Given the description of an element on the screen output the (x, y) to click on. 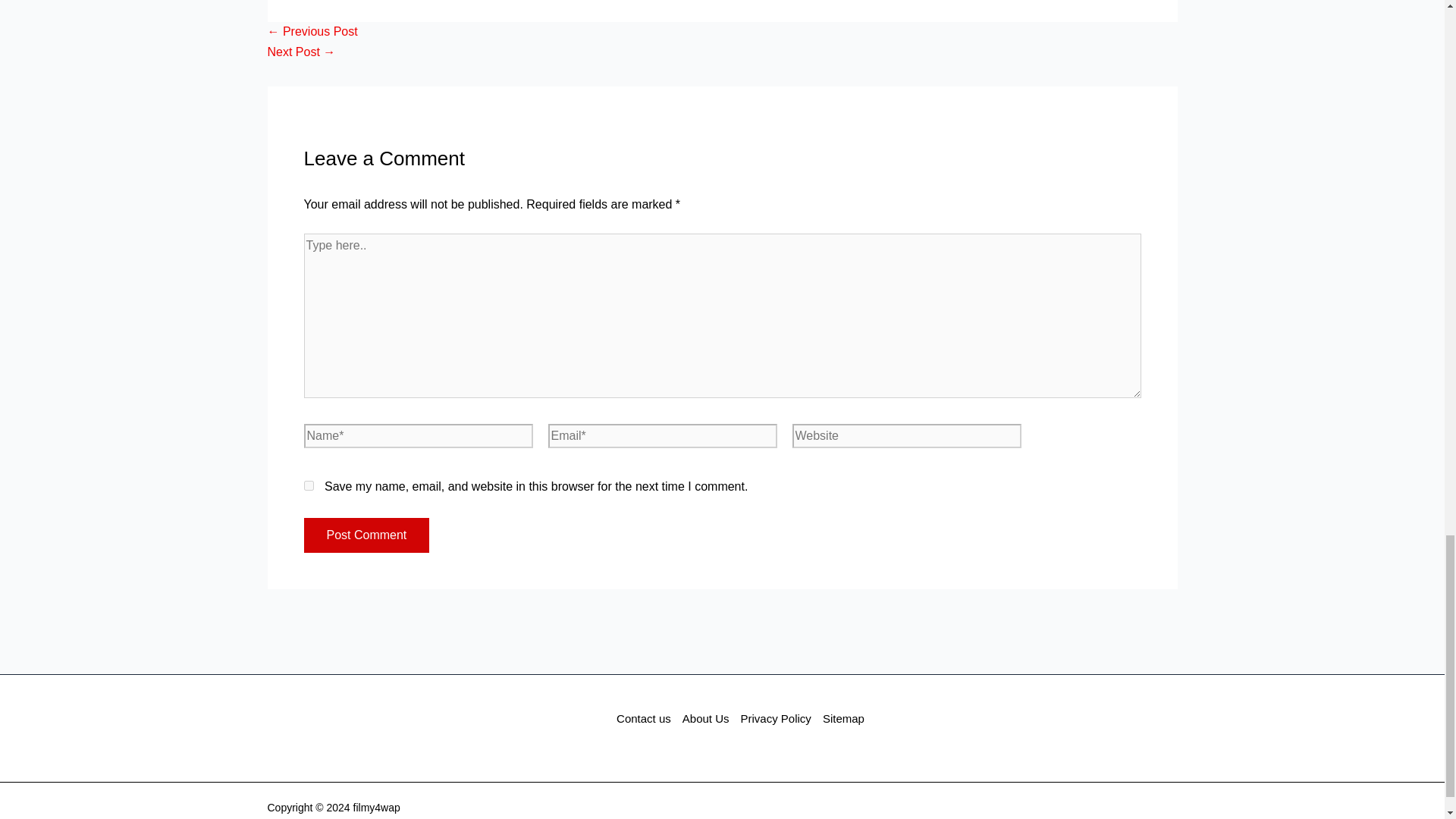
Sitemap (840, 718)
Privacy Policy (775, 718)
About Us (706, 718)
The Dead Zone (311, 31)
yes (307, 485)
Contact us (646, 718)
The Mutations (300, 51)
Post Comment (365, 534)
Post Comment (365, 534)
